Given the description of an element on the screen output the (x, y) to click on. 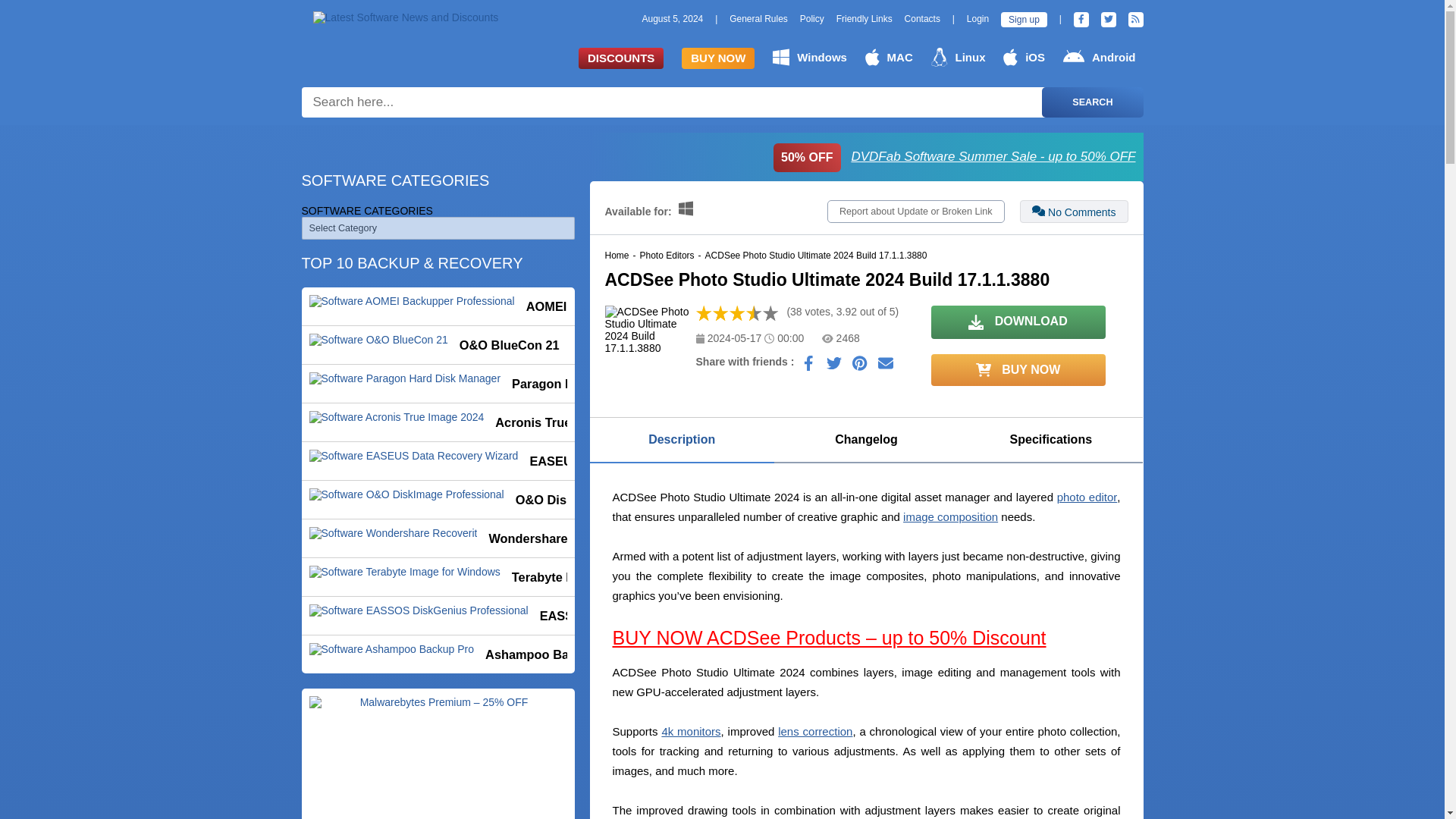
Wondershare Recoverit (437, 538)
Ashampoo Backup Pro (437, 653)
EASEUS Data Recovery Wizard (437, 460)
iOS (1024, 56)
Policy (811, 18)
Windows (810, 56)
Wondershare Recoverit (437, 538)
SEARCH (1092, 101)
Friendly Links (863, 18)
Twitter (1108, 19)
Android (1098, 56)
RSS (1135, 19)
Paragon Hard Disk Manager (437, 383)
EASSOS DiskGenius Professional (437, 615)
EASSOS DiskGenius Professional (437, 615)
